Given the description of an element on the screen output the (x, y) to click on. 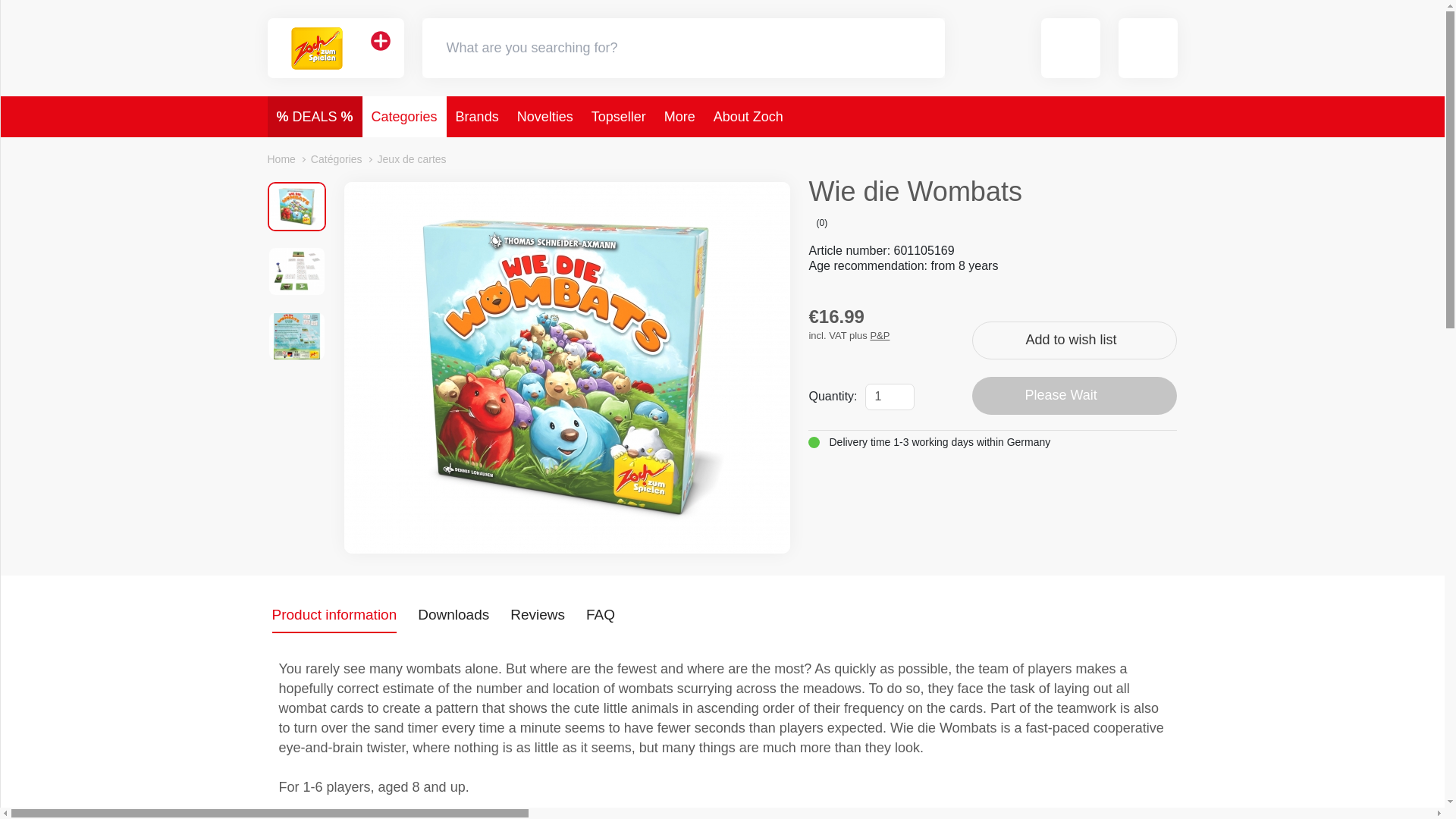
Categories (404, 116)
Categories (404, 116)
Login (1147, 47)
DEALS (313, 116)
DEALS (313, 116)
